Given the description of an element on the screen output the (x, y) to click on. 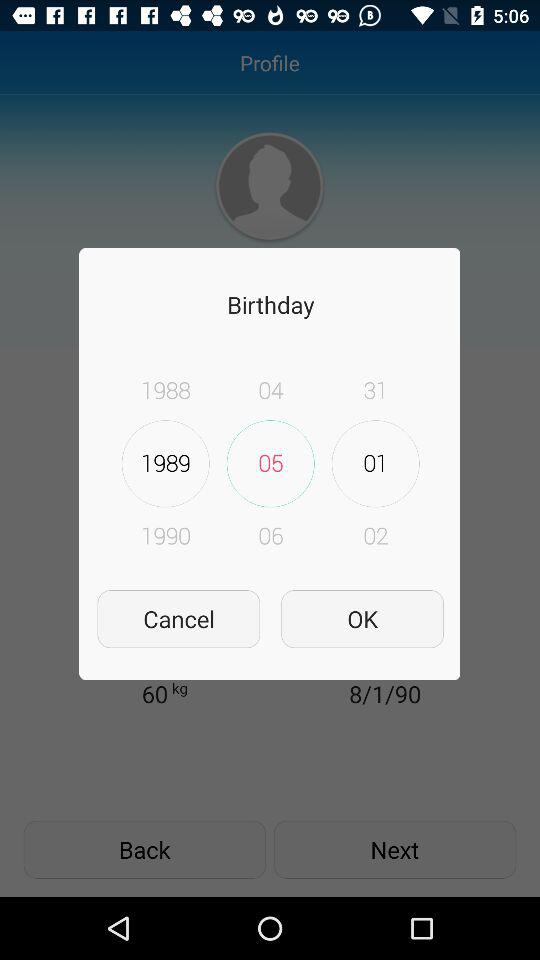
jump until ok (362, 618)
